Given the description of an element on the screen output the (x, y) to click on. 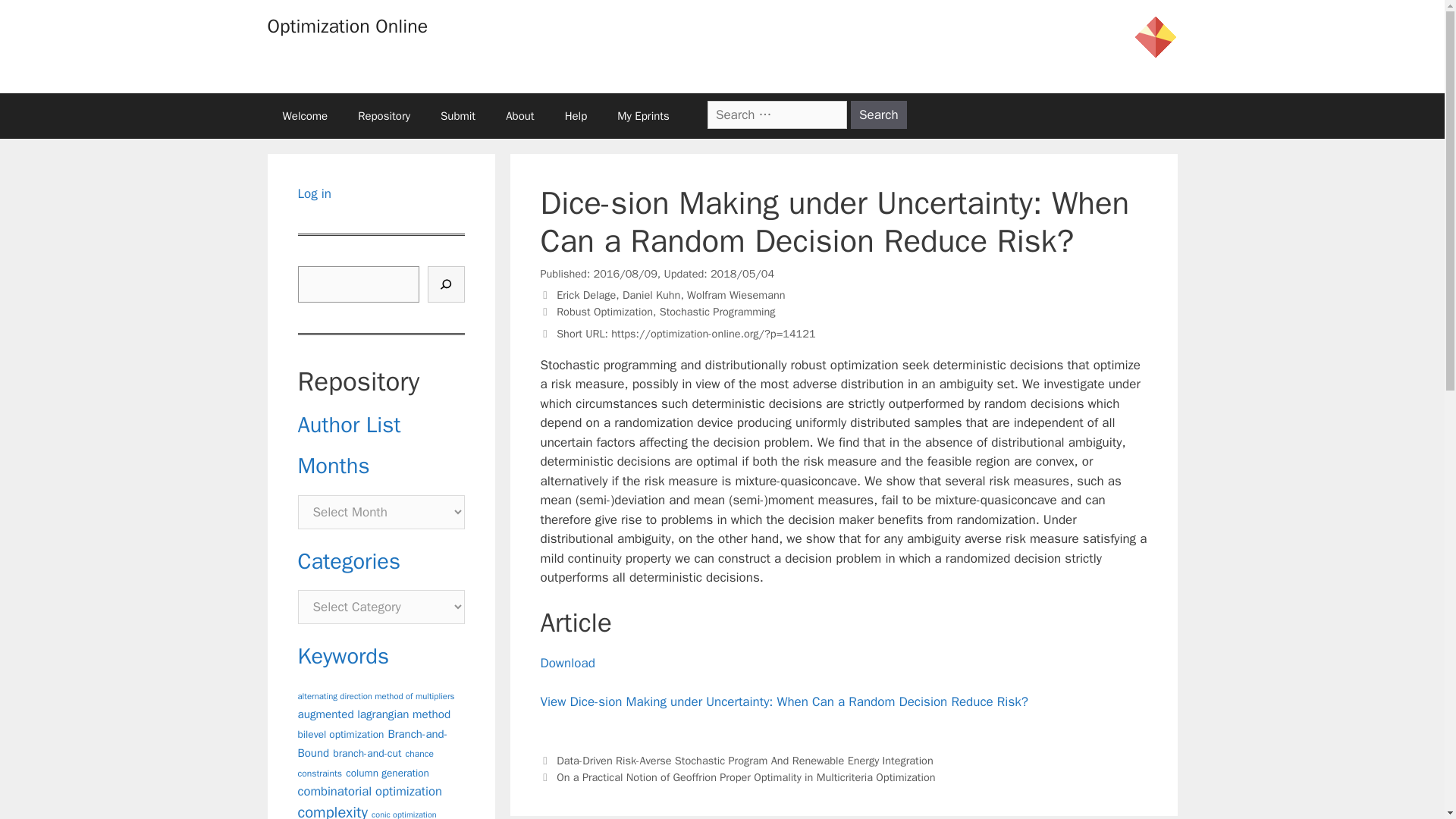
Help (576, 115)
About (519, 115)
Months (333, 465)
Categories (348, 561)
Branch-and-Bound (371, 743)
Search for: (777, 113)
complexity (331, 811)
Search (878, 113)
Submit (457, 115)
Search (878, 113)
